Given the description of an element on the screen output the (x, y) to click on. 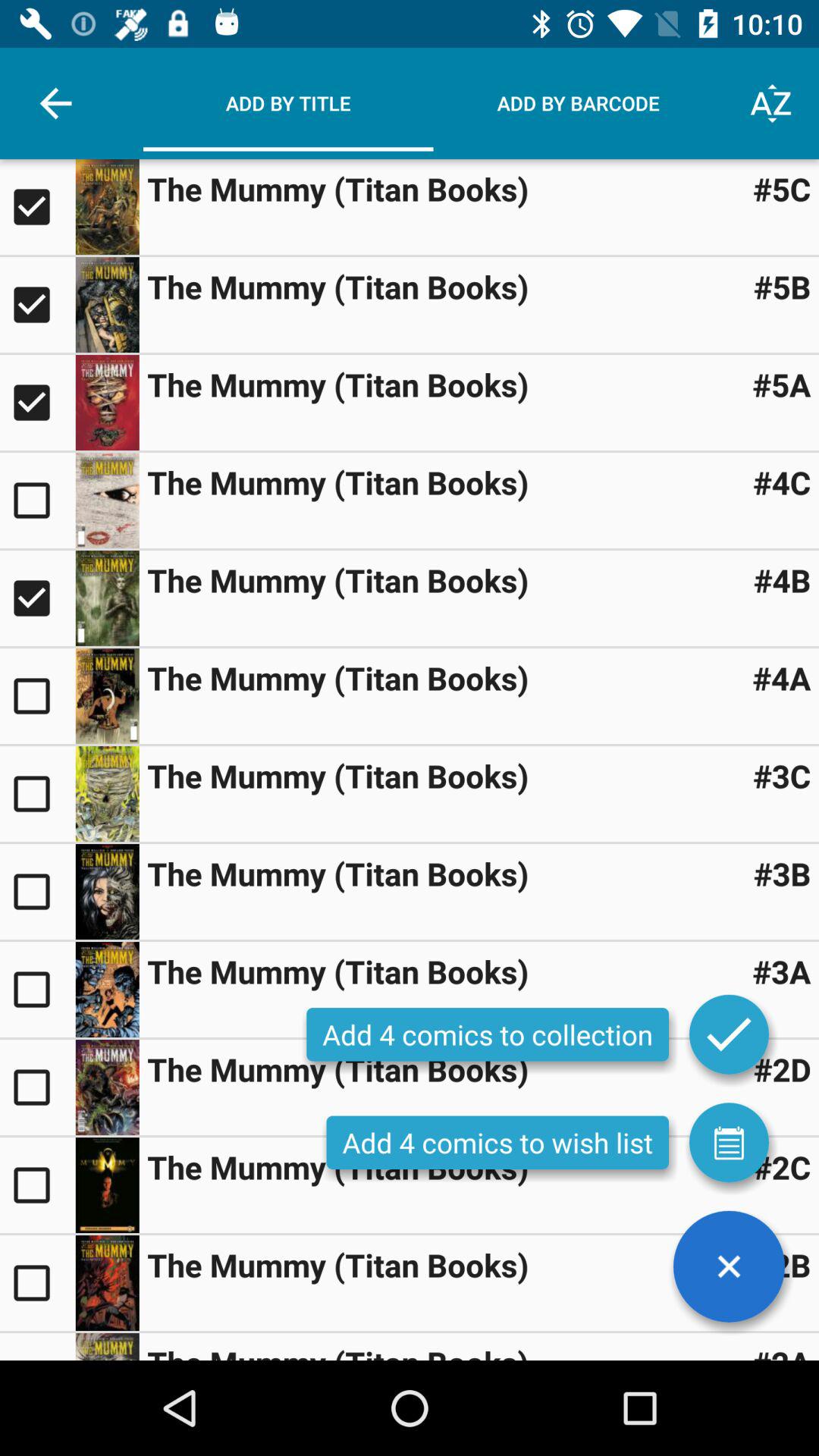
turn off icon next to the mummy titan (781, 971)
